Given the description of an element on the screen output the (x, y) to click on. 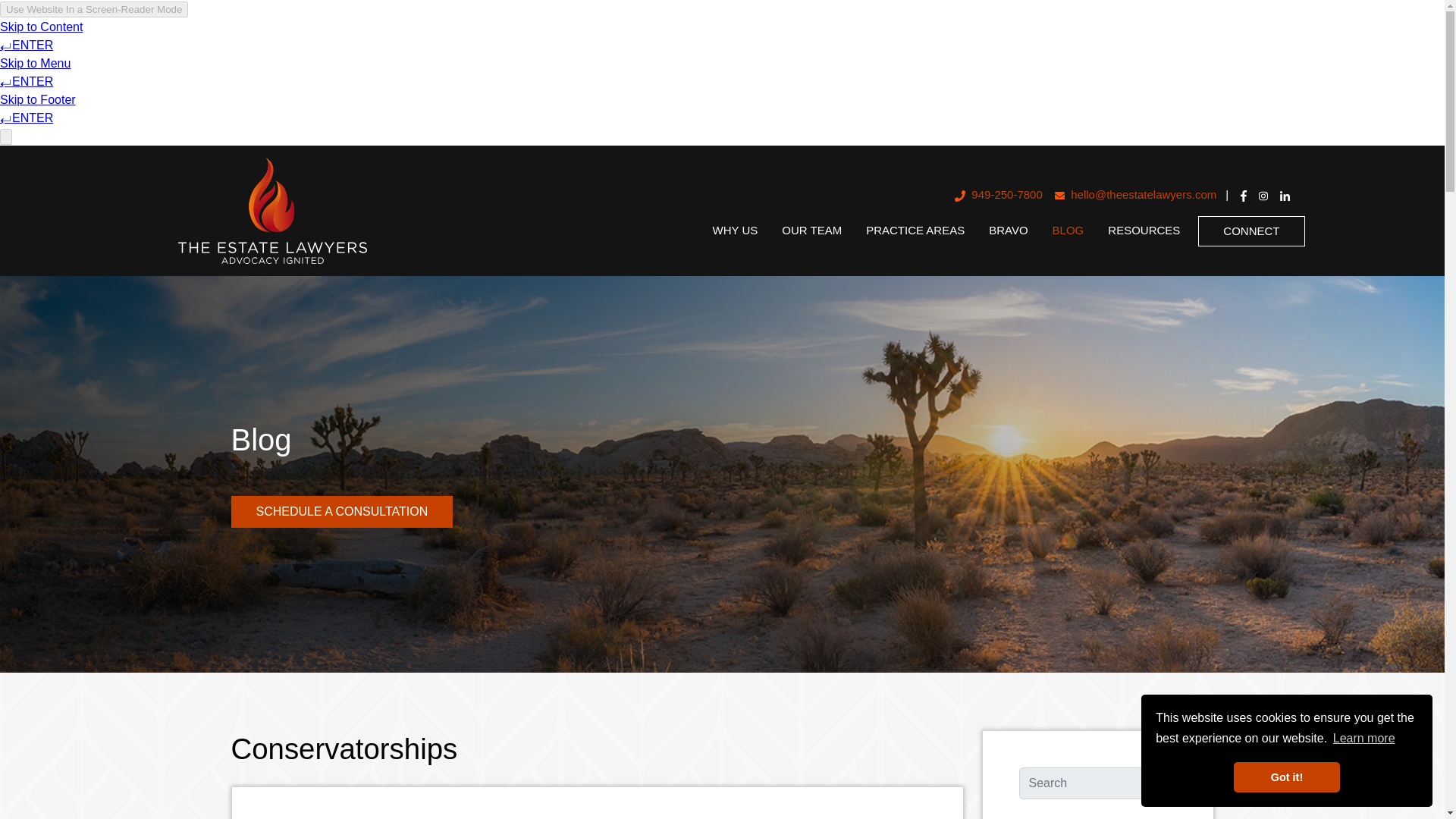
OUR TEAM (811, 230)
PRACTICE AREAS (914, 230)
Got it! (1286, 777)
949-250-7800 (998, 194)
WHY US (735, 230)
Learn more (1363, 738)
